Given the description of an element on the screen output the (x, y) to click on. 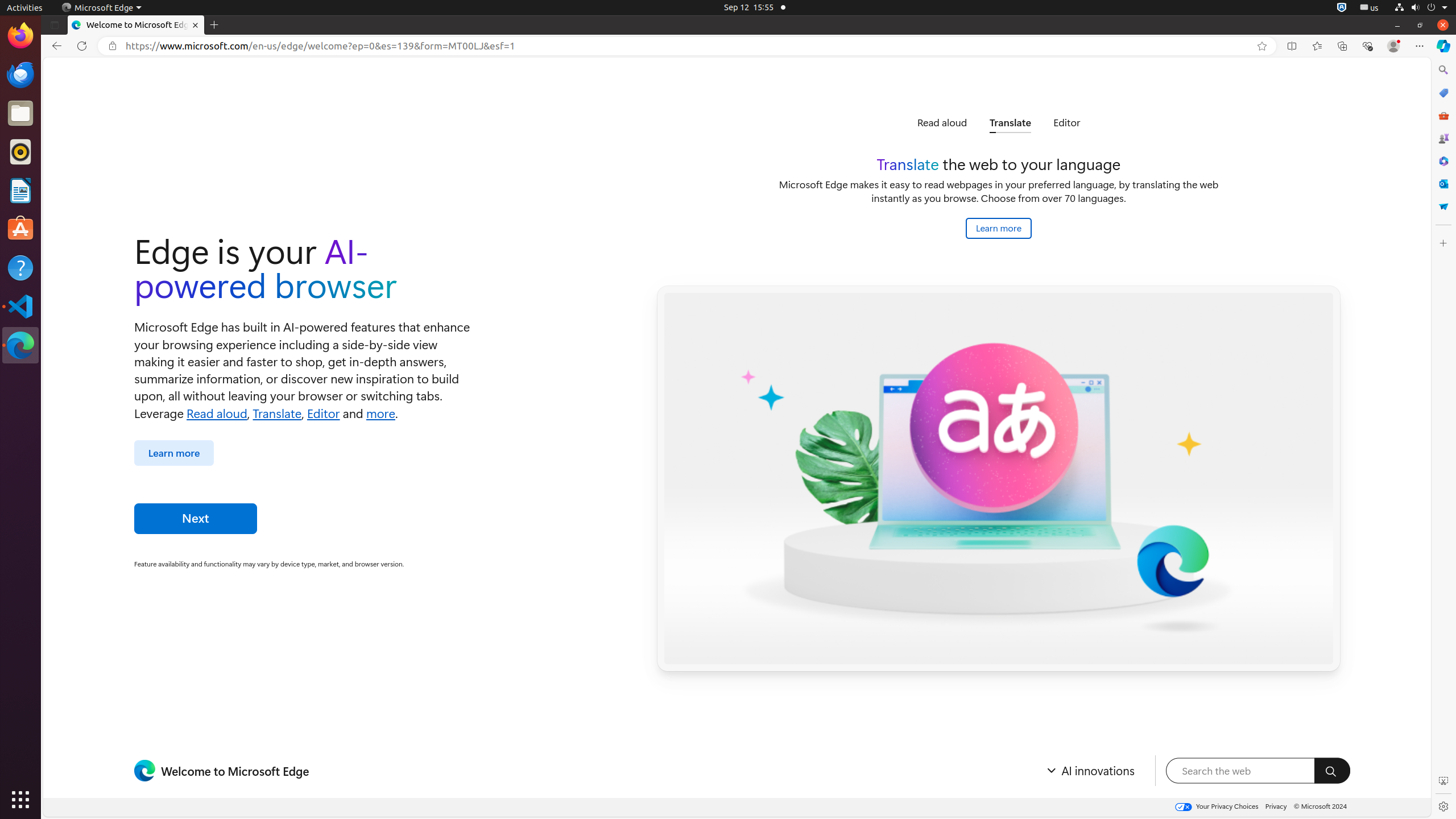
Browser essentials Element type: push-button (1366, 45)
Firefox Web Browser Element type: push-button (20, 35)
Read aloud Element type: link (216, 412)
Translate Translate Element type: push-button (1010, 122)
Read aloud Read aloud Element type: push-button (942, 122)
